Given the description of an element on the screen output the (x, y) to click on. 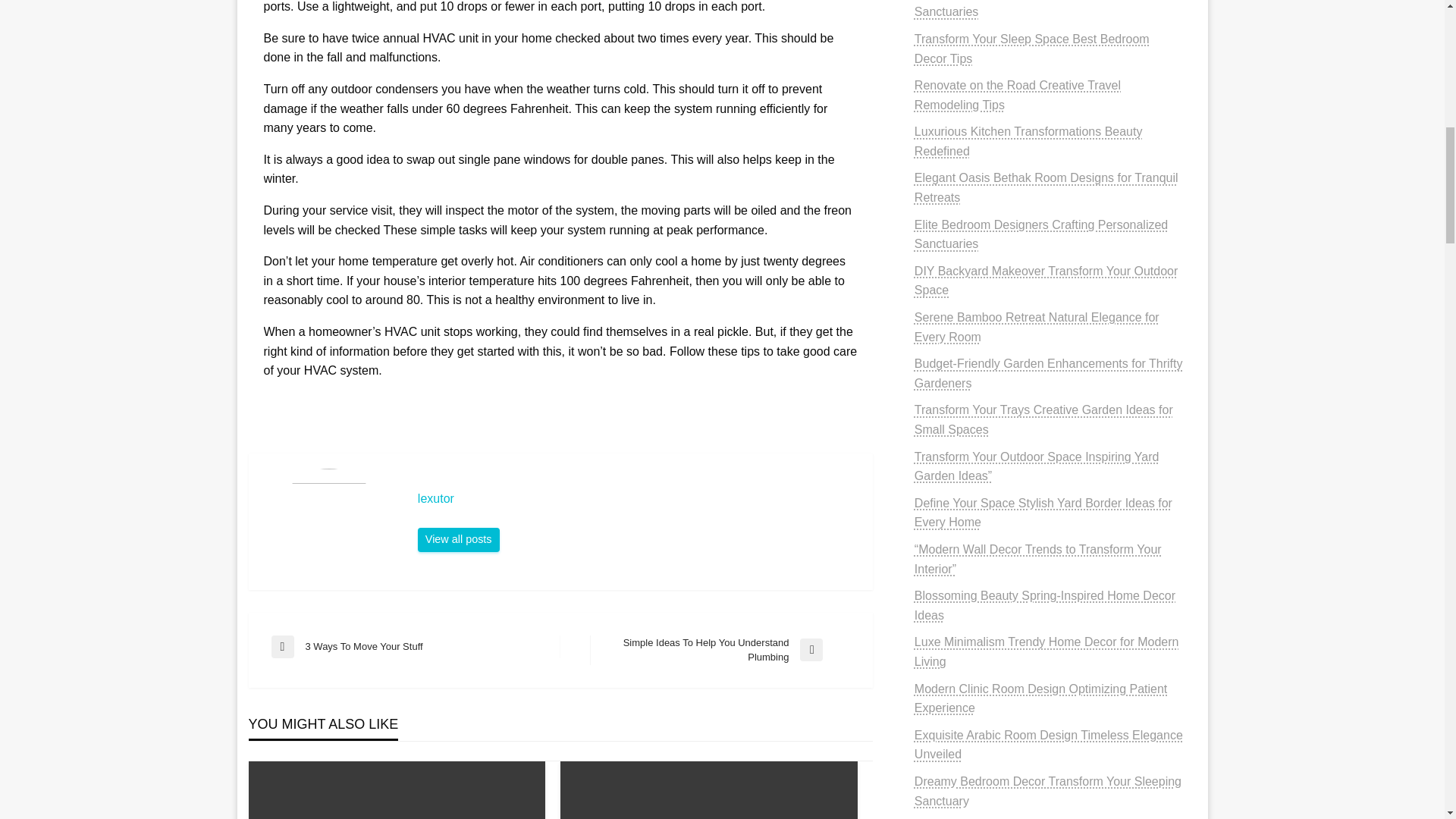
lexutor (415, 646)
lexutor (637, 498)
View all posts (458, 539)
lexutor (458, 539)
